Given the description of an element on the screen output the (x, y) to click on. 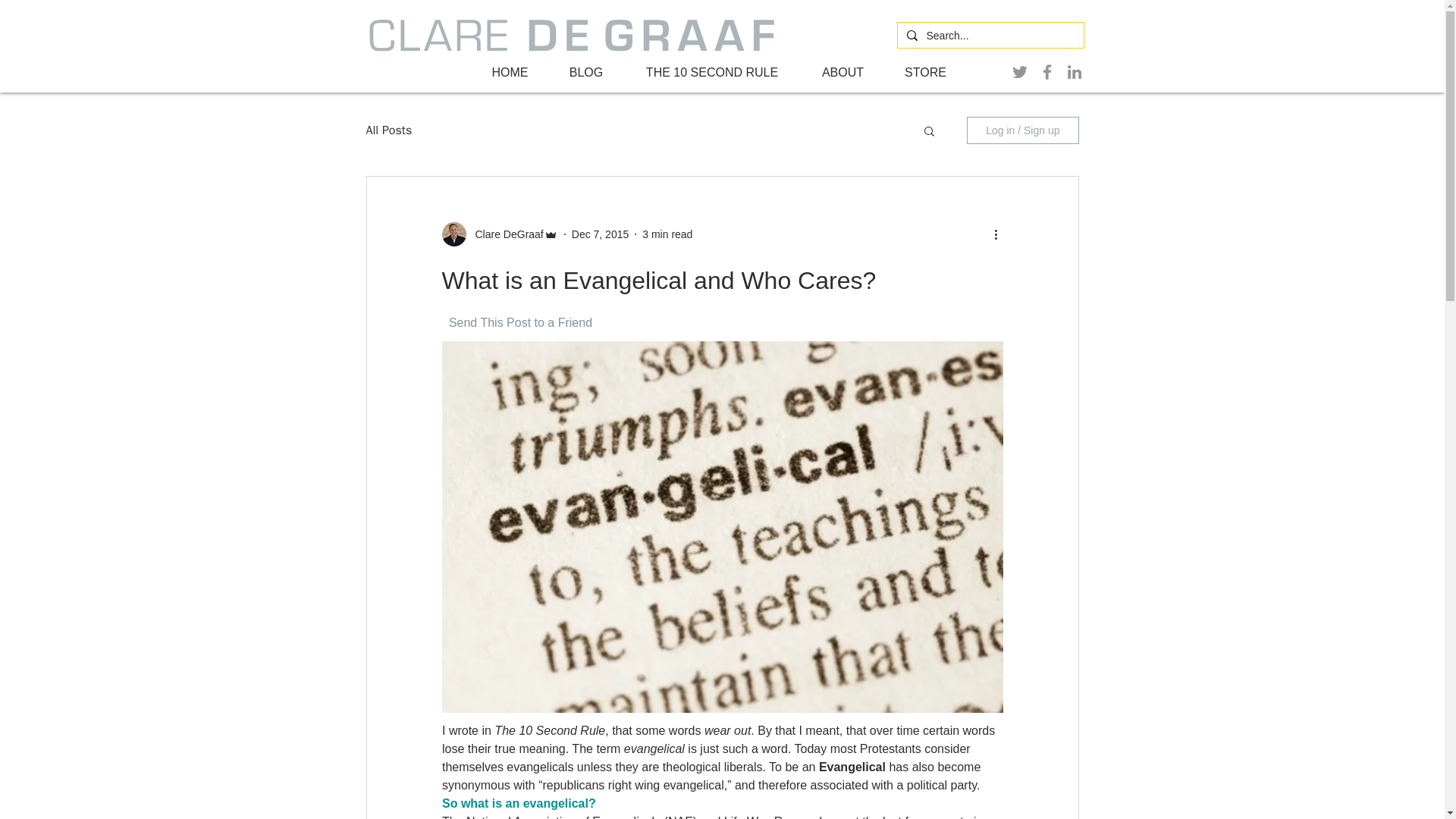
Clare DeGraaf (504, 233)
ABOUT (841, 72)
Clare DeGraaf (499, 233)
All Posts (388, 130)
Dec 7, 2015 (600, 233)
THE 10 SECOND RULE (712, 72)
BLOG (585, 72)
Send This Post to a Friend (519, 322)
3 min read (667, 233)
STORE (924, 72)
